Given the description of an element on the screen output the (x, y) to click on. 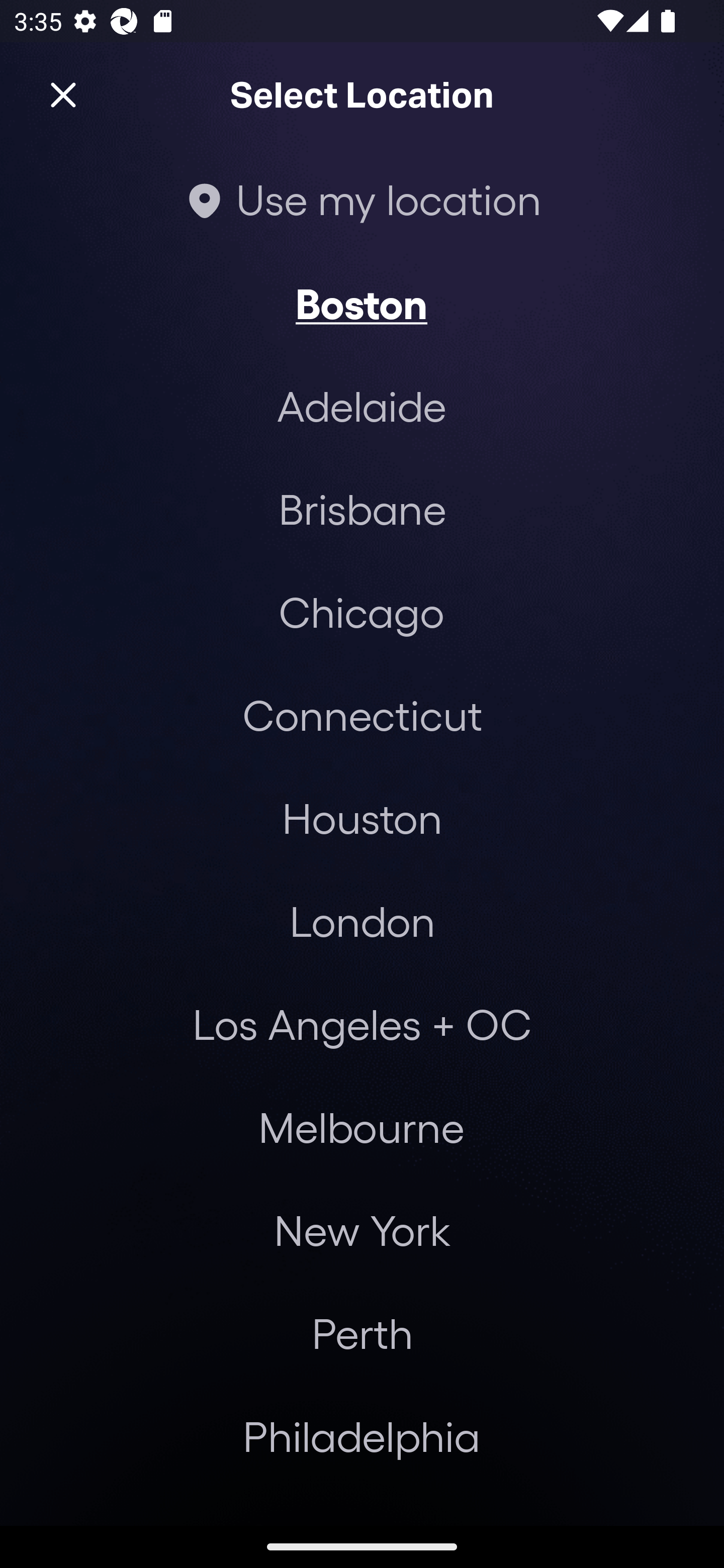
Close (62, 95)
   Use my location (362, 198)
Boston (361, 302)
Adelaide (361, 405)
Brisbane (361, 508)
Chicago (361, 611)
Connecticut (361, 714)
Houston (361, 817)
London (361, 920)
Los Angeles + OC (361, 1023)
Melbourne (361, 1127)
New York (361, 1230)
Perth (361, 1332)
Philadelphia (361, 1436)
